Given the description of an element on the screen output the (x, y) to click on. 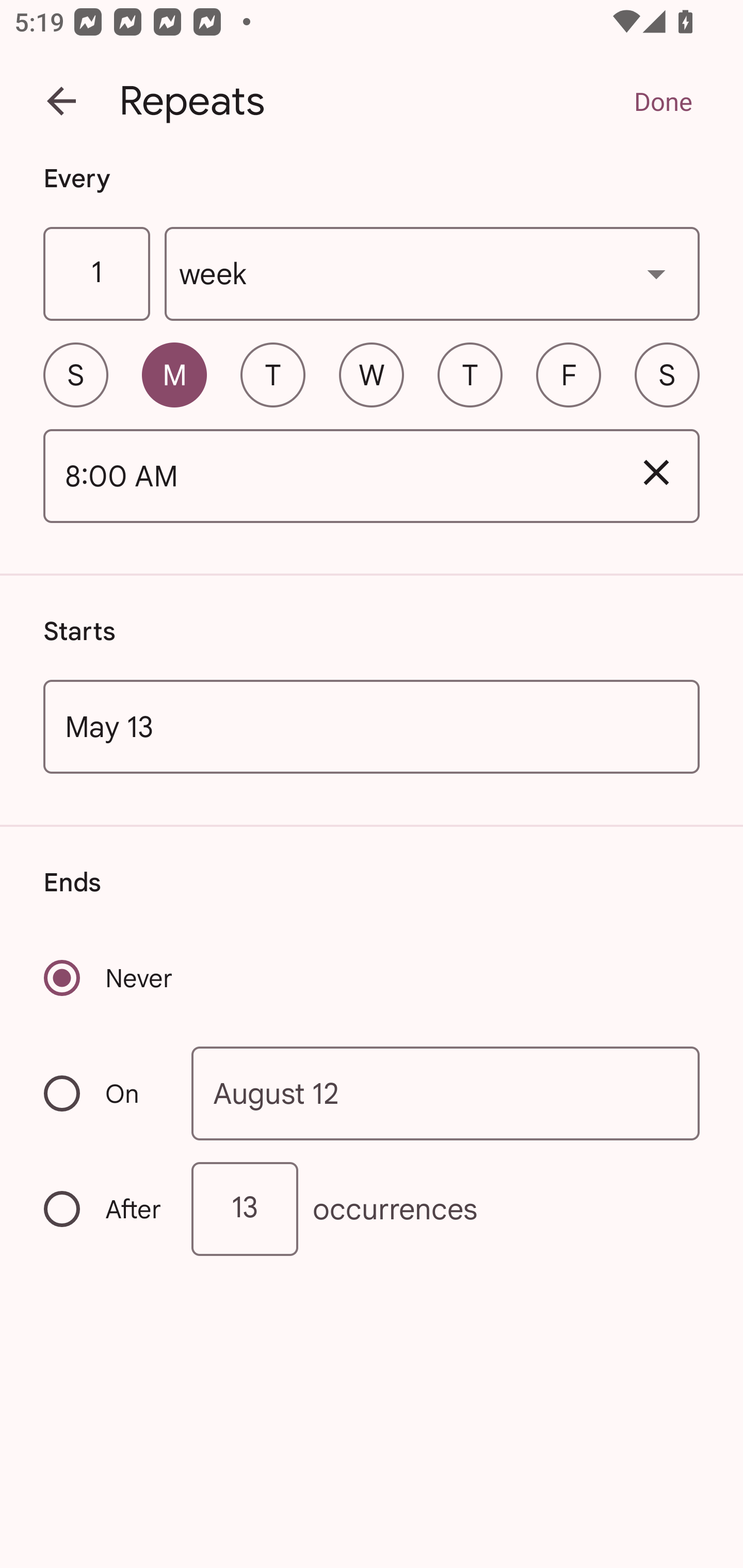
Back (61, 101)
Done (663, 101)
1 (96, 274)
week (431, 274)
Show dropdown menu (655, 273)
S Sunday (75, 374)
M Monday, selected (173, 374)
T Tuesday (272, 374)
W Wednesday (371, 374)
T Thursday (469, 374)
F Friday (568, 374)
S Saturday (666, 374)
8:00 AM (327, 476)
Remove 8:00 AM (655, 472)
May 13 (371, 726)
Never Recurrence never ends (109, 978)
August 12 (445, 1092)
On Recurrence ends on a specific date (104, 1093)
13 (244, 1208)
